Given the description of an element on the screen output the (x, y) to click on. 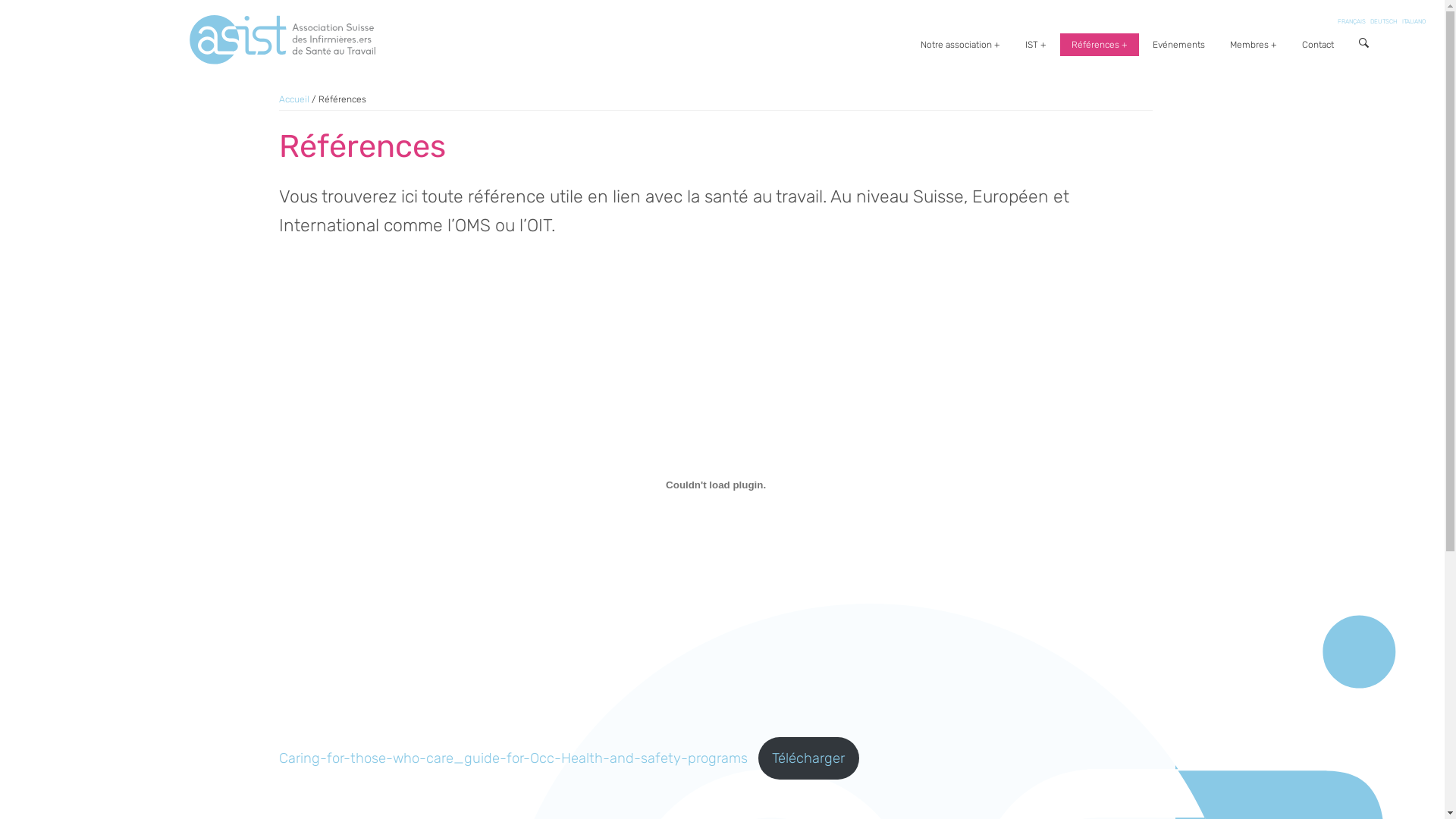
Membres Element type: text (1253, 44)
Notre association Element type: text (960, 44)
Contact Element type: text (1317, 44)
Accueil Element type: text (294, 99)
IST Element type: text (1035, 44)
ITALIANO Element type: text (1413, 21)
DEUTSCH Element type: text (1383, 21)
